Given the description of an element on the screen output the (x, y) to click on. 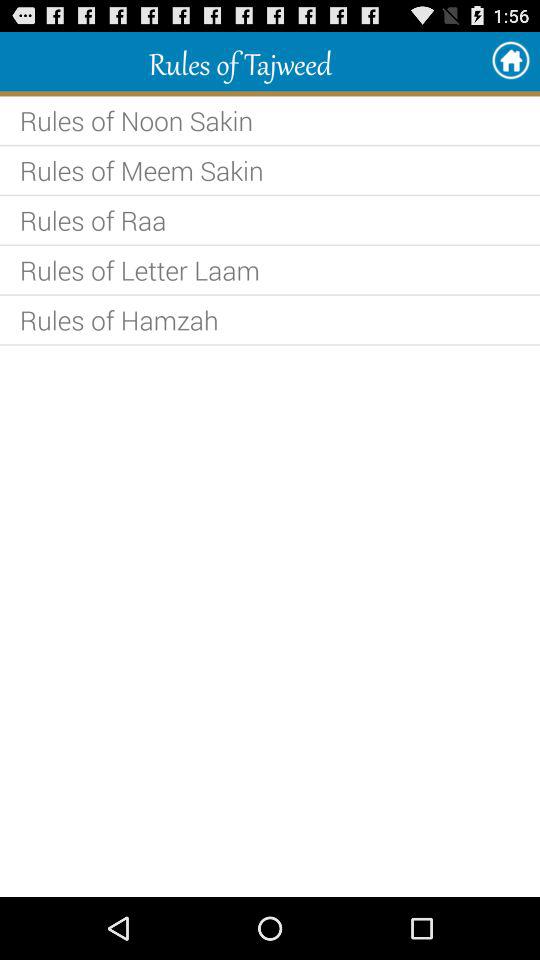
tap the item at the top right corner (510, 60)
